Given the description of an element on the screen output the (x, y) to click on. 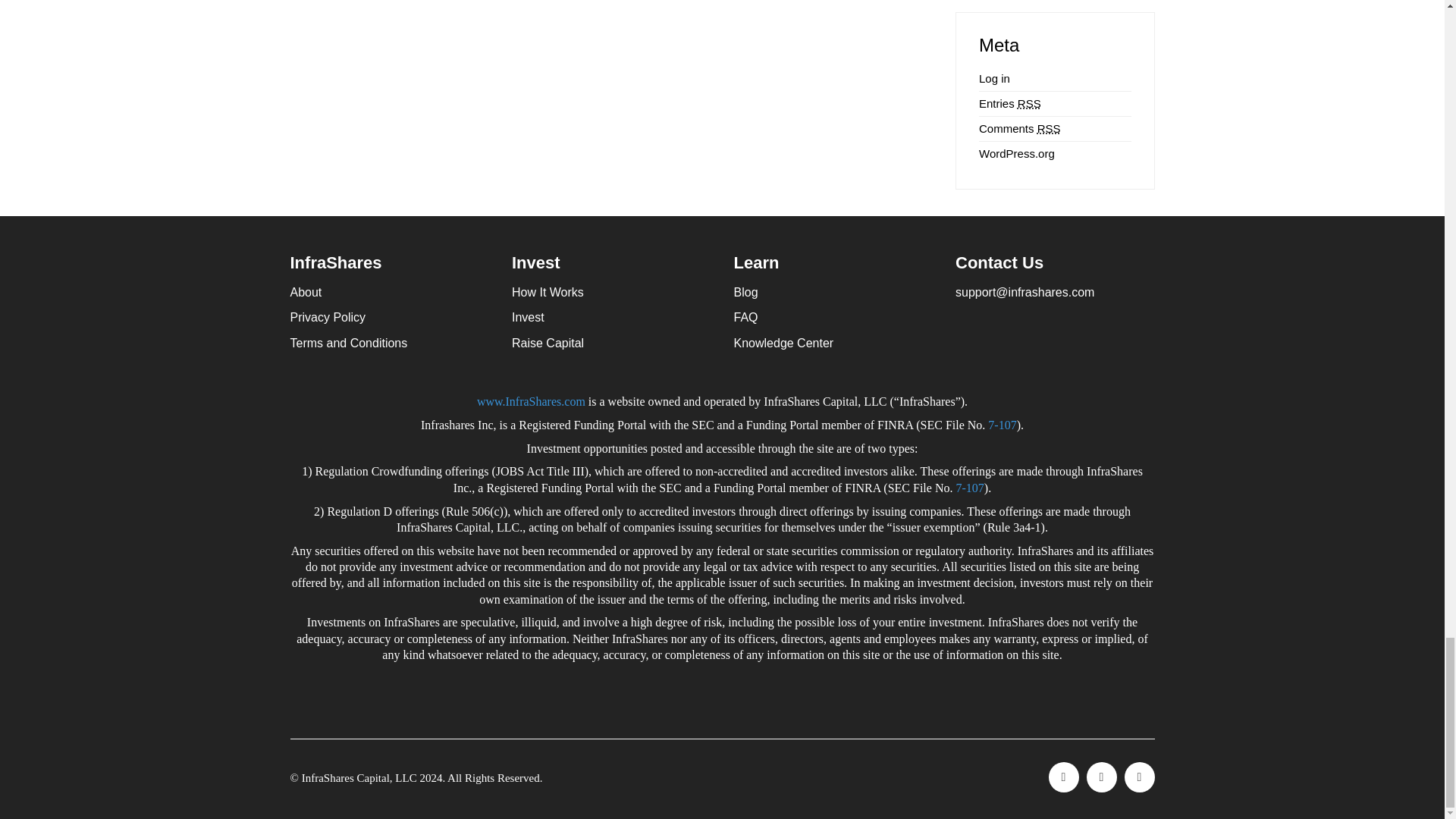
Really Simple Syndication (1048, 128)
Really Simple Syndication (1029, 103)
LinkedIn (1139, 777)
Twitter (1101, 777)
Facebook (1063, 777)
